Given the description of an element on the screen output the (x, y) to click on. 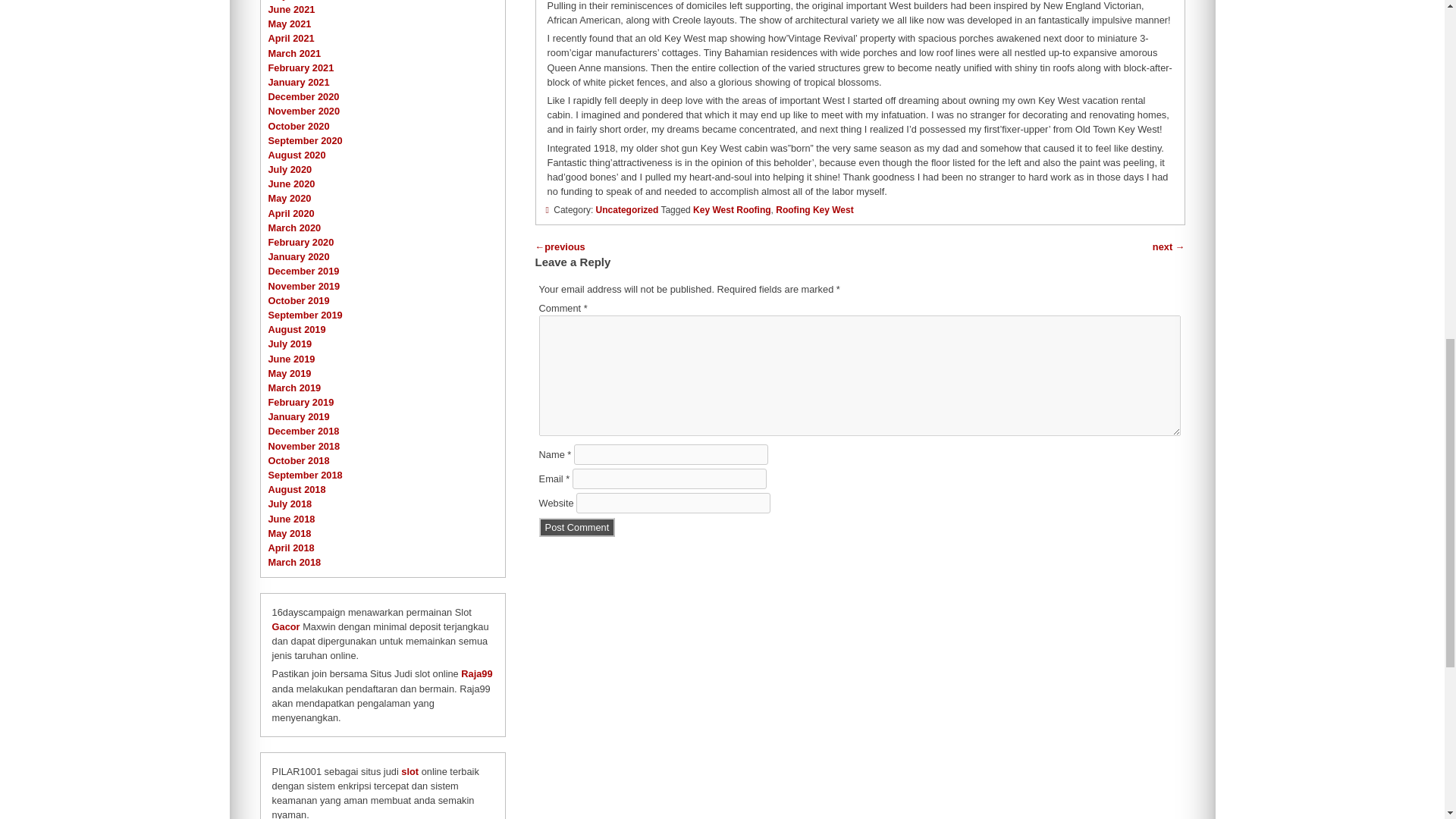
Roofing Key West (814, 209)
Post Comment (576, 527)
Key West Roofing (731, 209)
Post Comment (576, 527)
Uncategorized (627, 209)
